Given the description of an element on the screen output the (x, y) to click on. 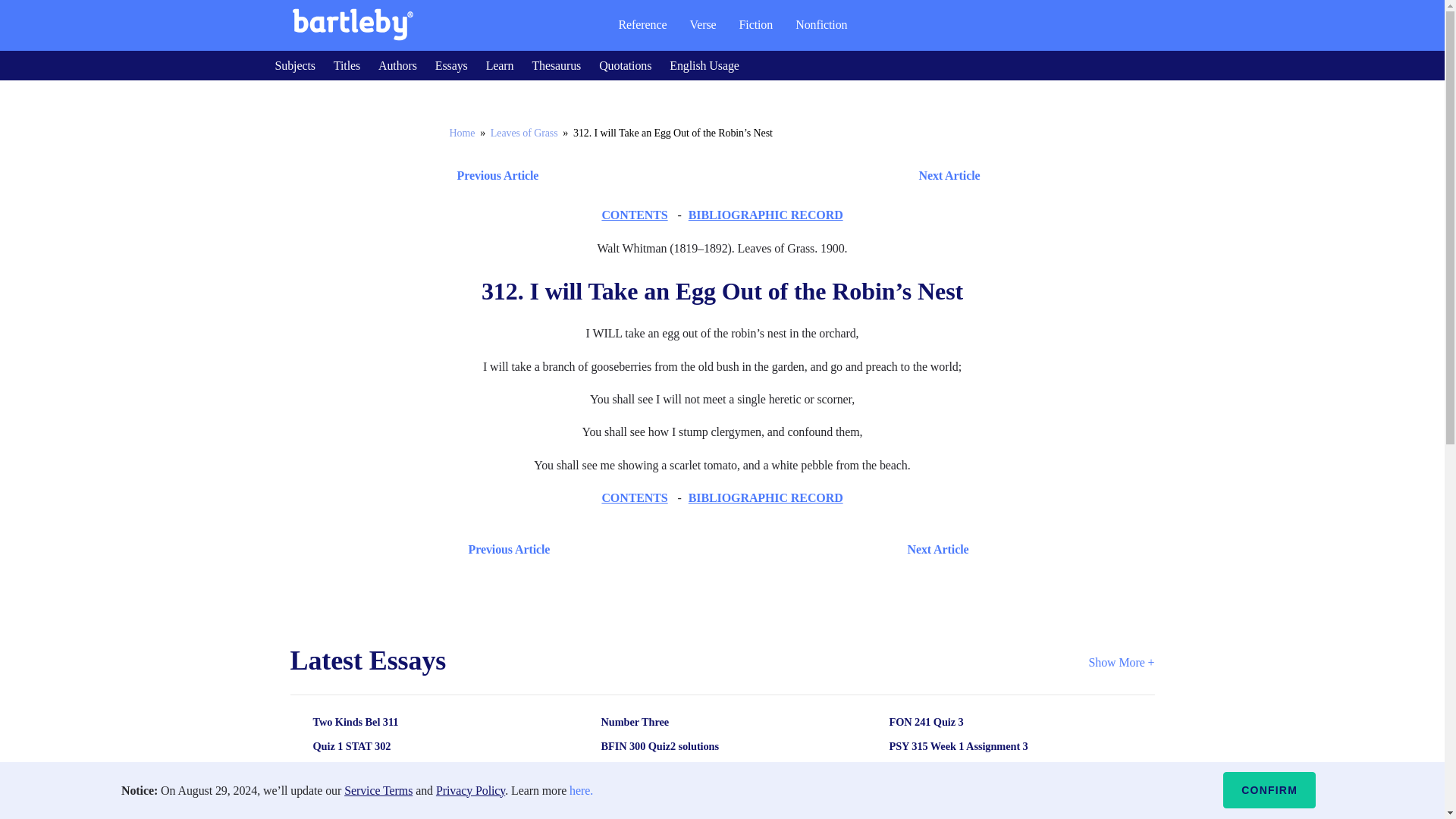
Quotations (624, 65)
Thesaurus (555, 65)
Is 315 (988, 770)
CONTENTS (633, 214)
2411 Chapter 1 (699, 770)
Verse (702, 24)
Quiz 1 STAT 302 (411, 746)
IT 236 (411, 814)
Leaves of Grass (523, 132)
Nonfiction (821, 24)
